Given the description of an element on the screen output the (x, y) to click on. 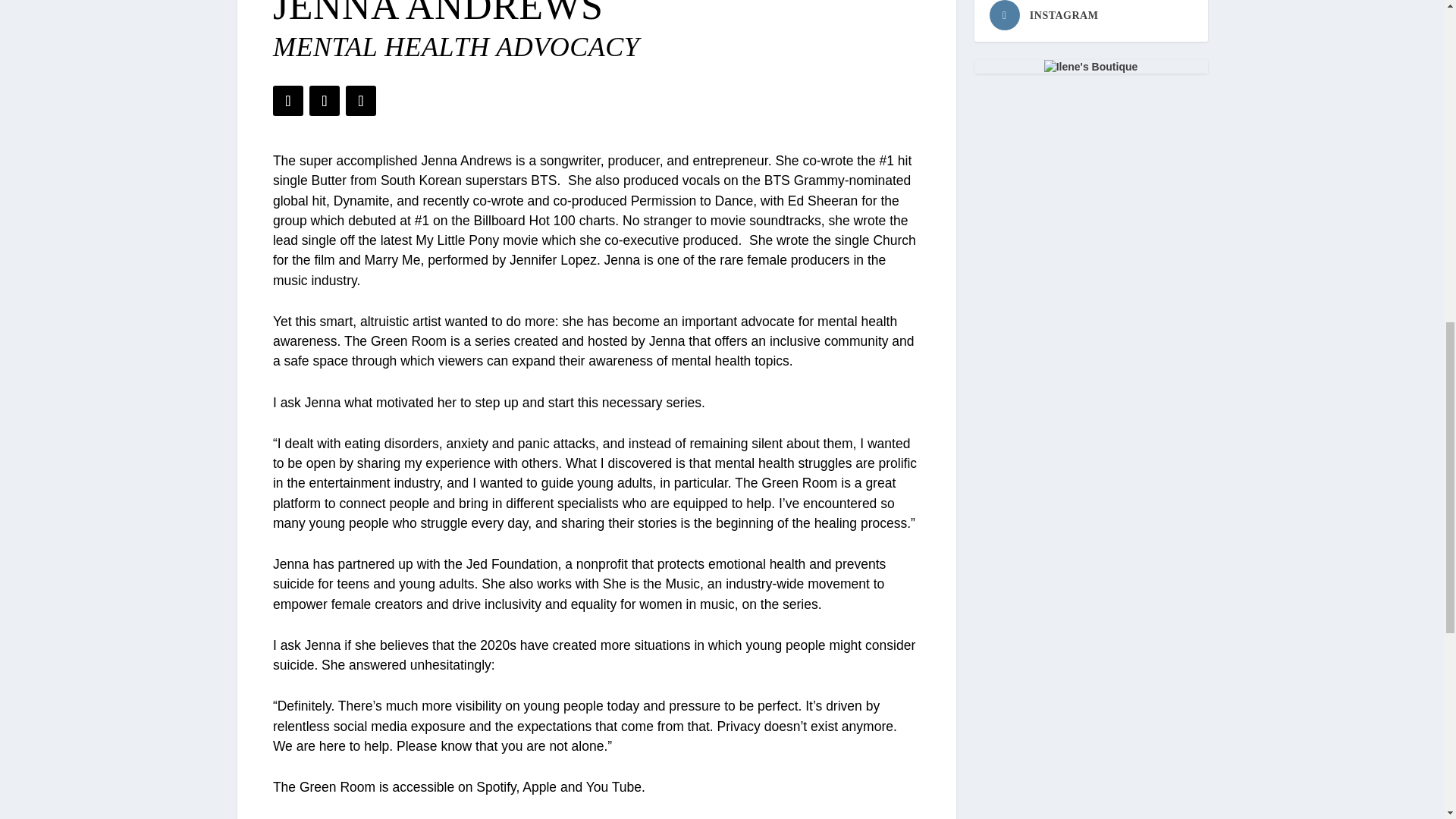
Follow on Instagram (360, 100)
Follow on Facebook (287, 100)
Follow on X (323, 100)
